Given the description of an element on the screen output the (x, y) to click on. 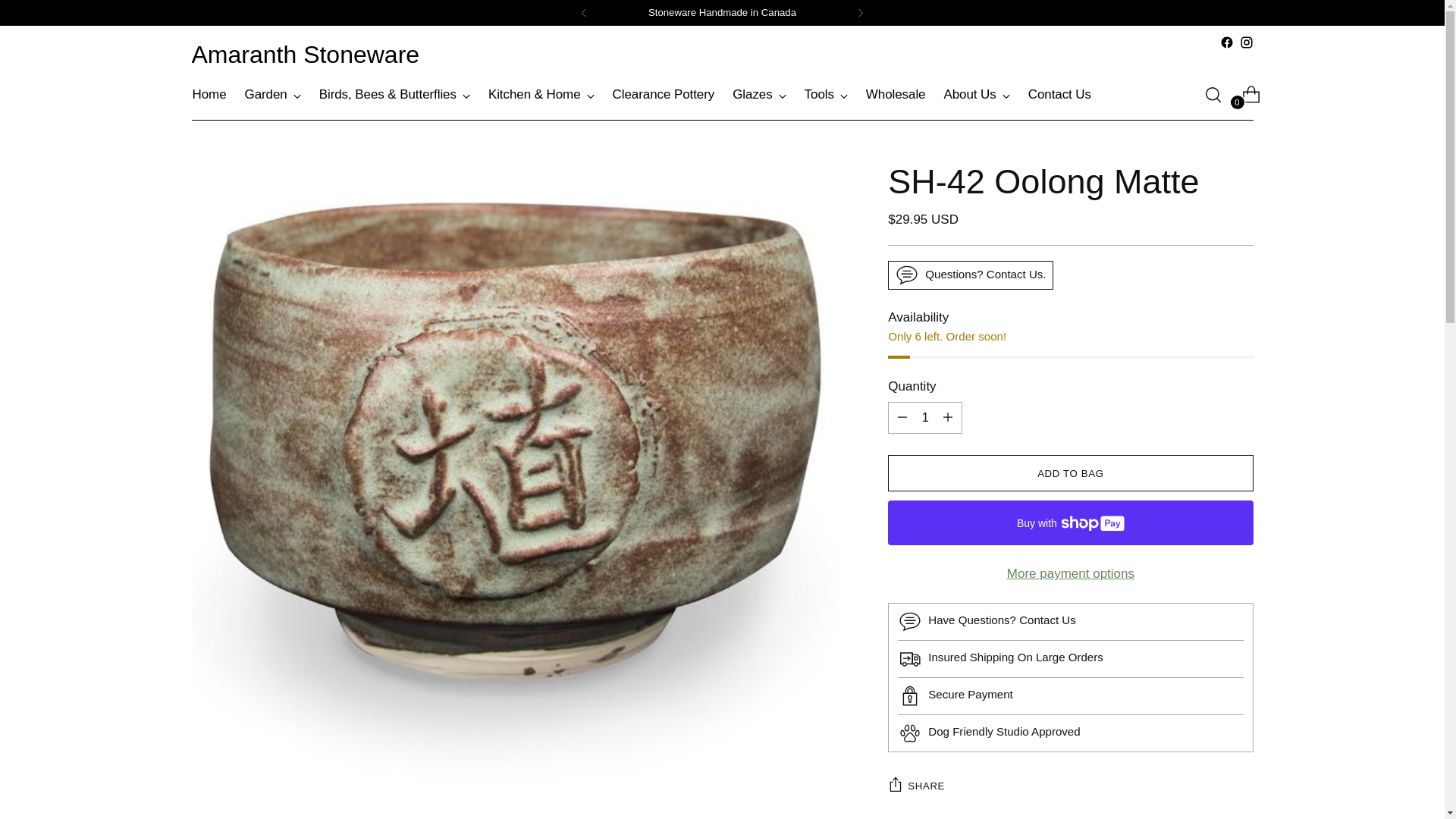
1 (925, 417)
Glazes (759, 94)
Garden (272, 94)
Amaranth Stoneware (304, 54)
Home (209, 94)
Amaranth Stoneware on Facebook (1226, 42)
Clearance Pottery (663, 94)
Next (860, 12)
Amaranth Stoneware on Instagram (1245, 42)
Previous (583, 12)
Stoneware Handmade in Canada (721, 12)
